Given the description of an element on the screen output the (x, y) to click on. 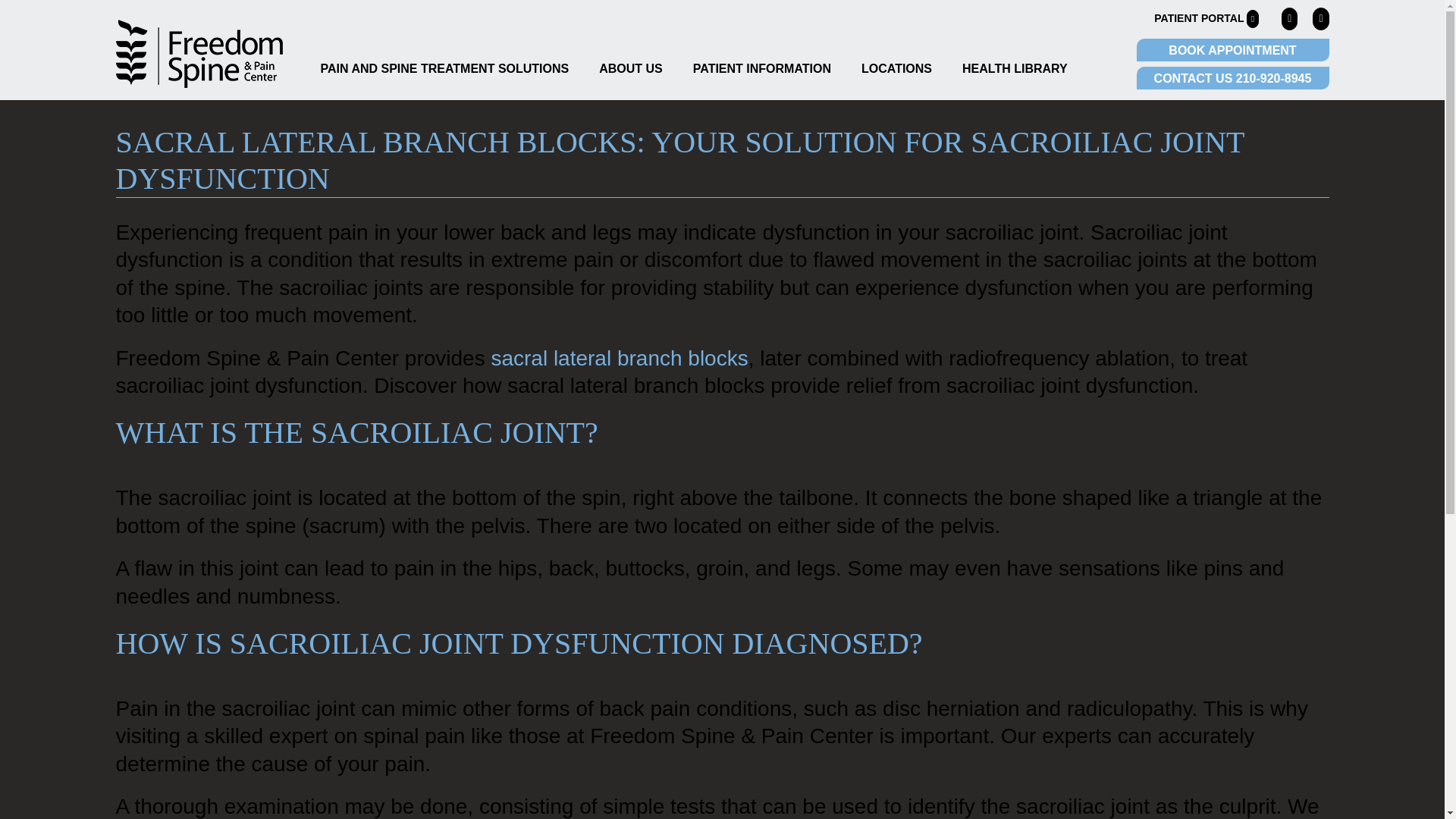
PATIENT PORTAL (1206, 18)
PATIENT INFORMATION (761, 68)
ABOUT US (630, 68)
Book Appointment (1231, 49)
Patient Portal (1206, 18)
HEALTH LIBRARY (1015, 68)
LOCATIONS (896, 68)
Book Appointment (1231, 77)
PAIN AND SPINE TREATMENT SOLUTIONS (444, 68)
